Given the description of an element on the screen output the (x, y) to click on. 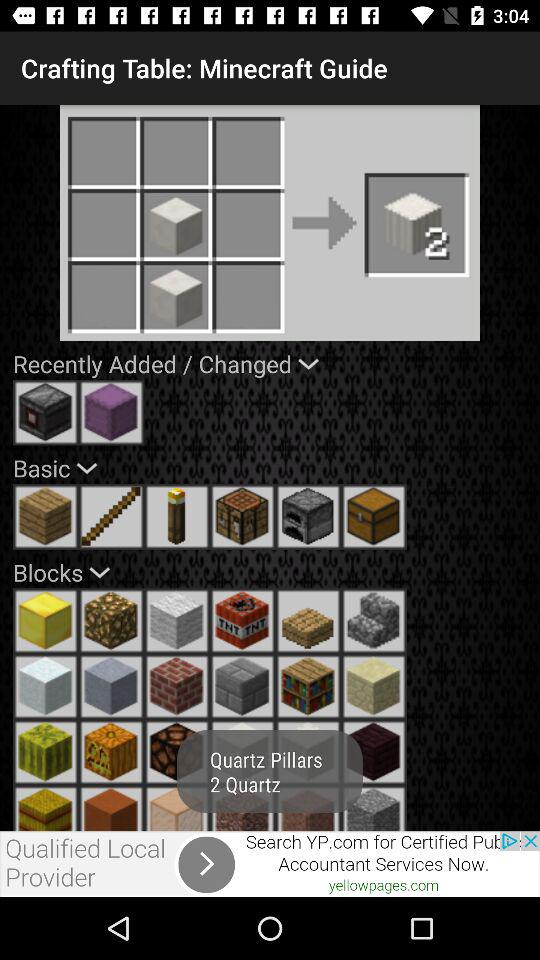
choose option (242, 752)
